Given the description of an element on the screen output the (x, y) to click on. 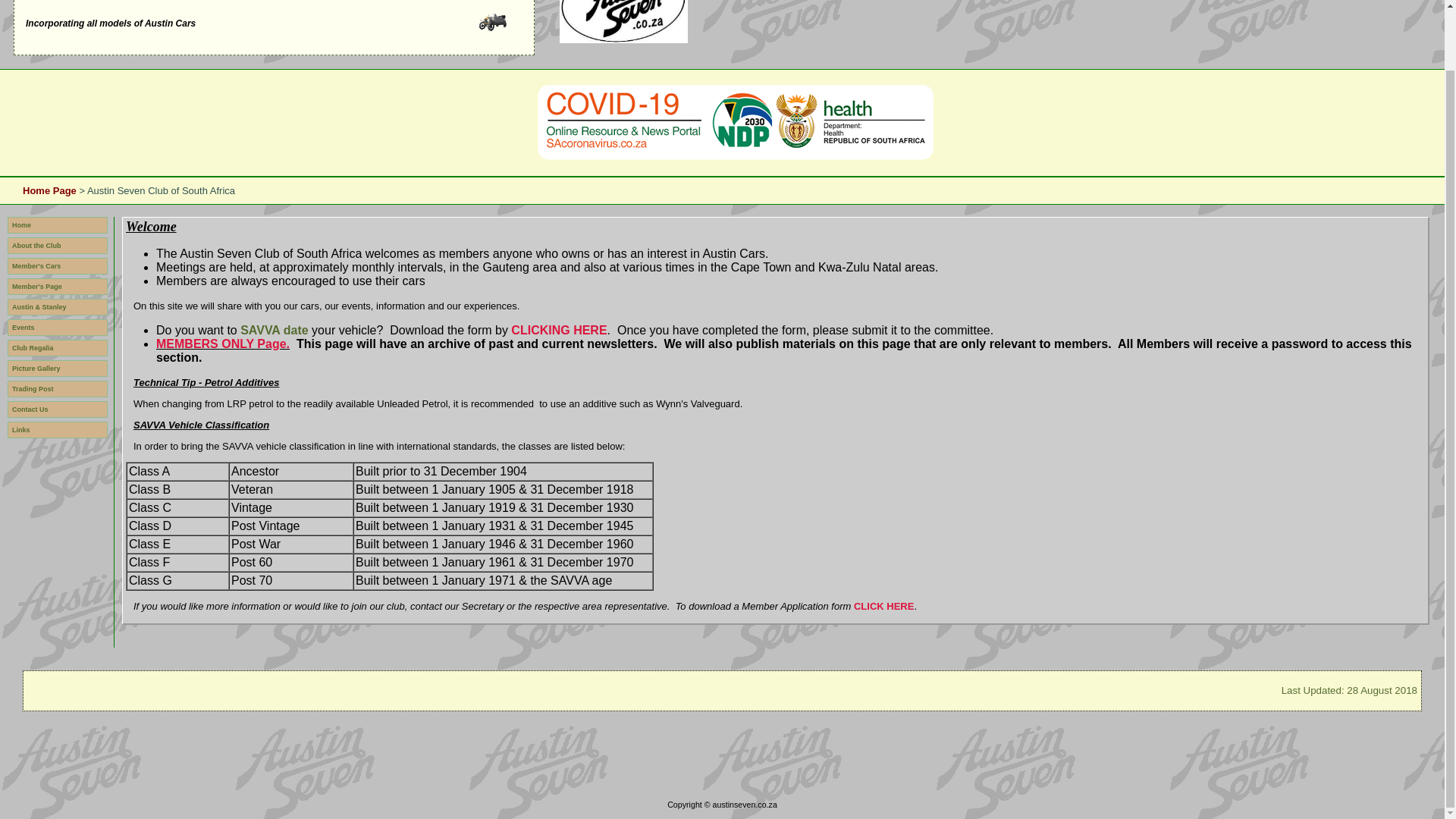
Links (57, 429)
Contact Us (57, 409)
Member's Page (57, 286)
About the Club (57, 245)
Trading Post (57, 388)
CLICKING HERE (559, 329)
Picture Gallery (57, 368)
CLICK HERE (883, 605)
Events (57, 327)
Club Regalia (57, 347)
MEMBERS ONLY Page. (222, 343)
Member's Cars (57, 265)
Home (57, 225)
